Given the description of an element on the screen output the (x, y) to click on. 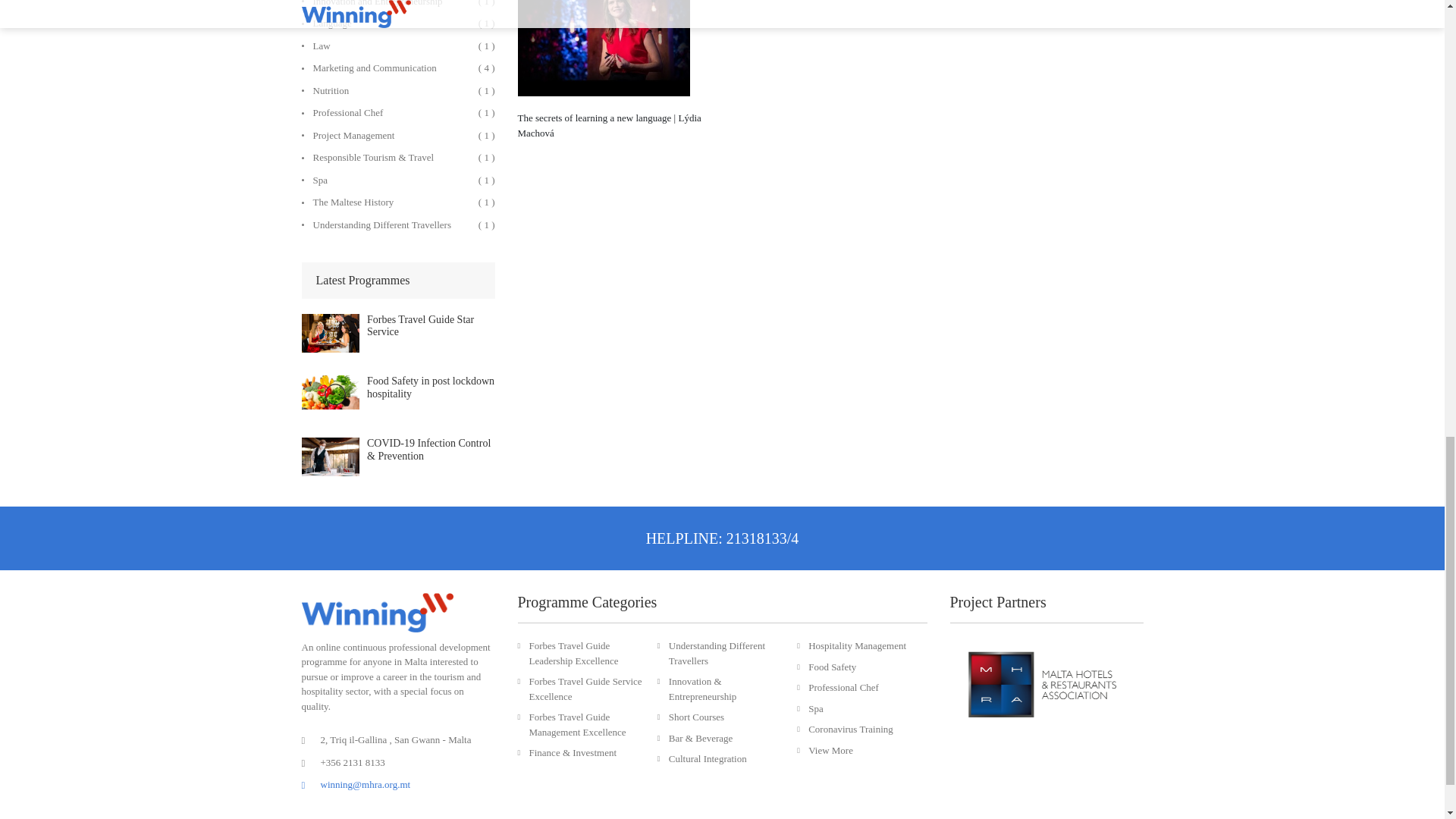
Winning (376, 611)
